Given the description of an element on the screen output the (x, y) to click on. 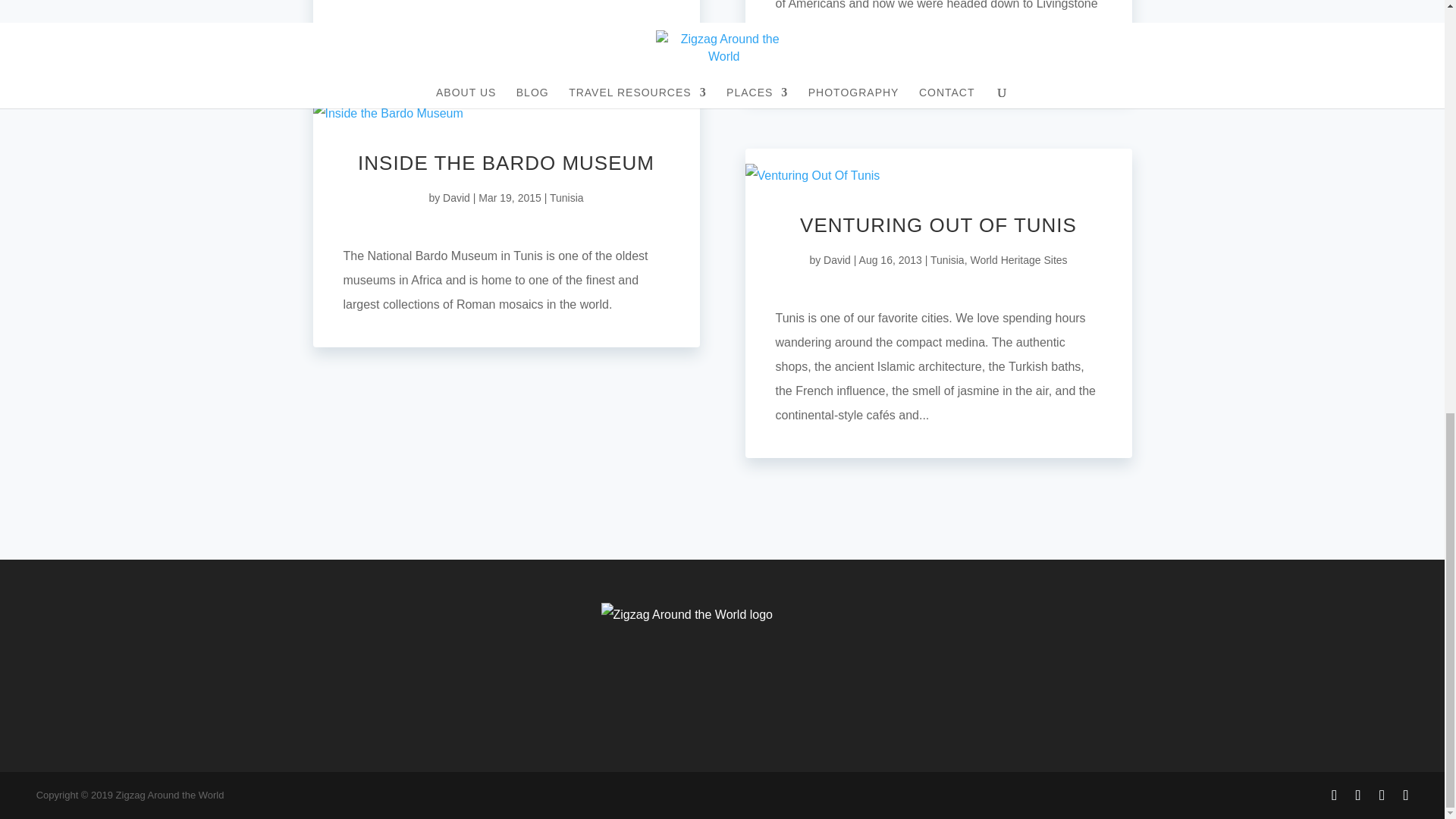
Posts by David (837, 259)
Posts by David (456, 197)
